Given the description of an element on the screen output the (x, y) to click on. 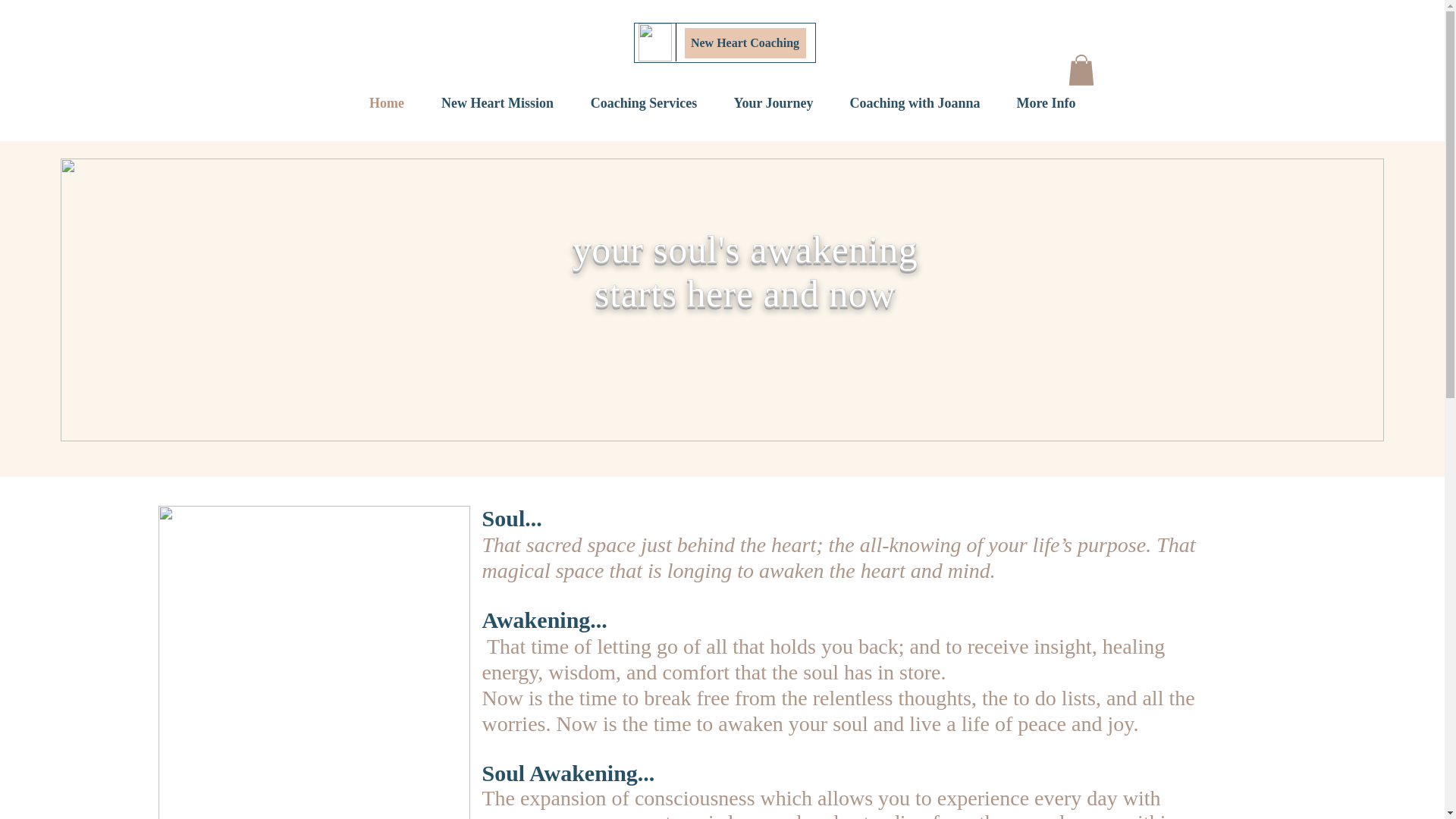
New Heart Mission (497, 103)
Home (386, 103)
Coaching with Joanna (914, 103)
New Heart Coaching (744, 42)
Your Journey (773, 103)
